Given the description of an element on the screen output the (x, y) to click on. 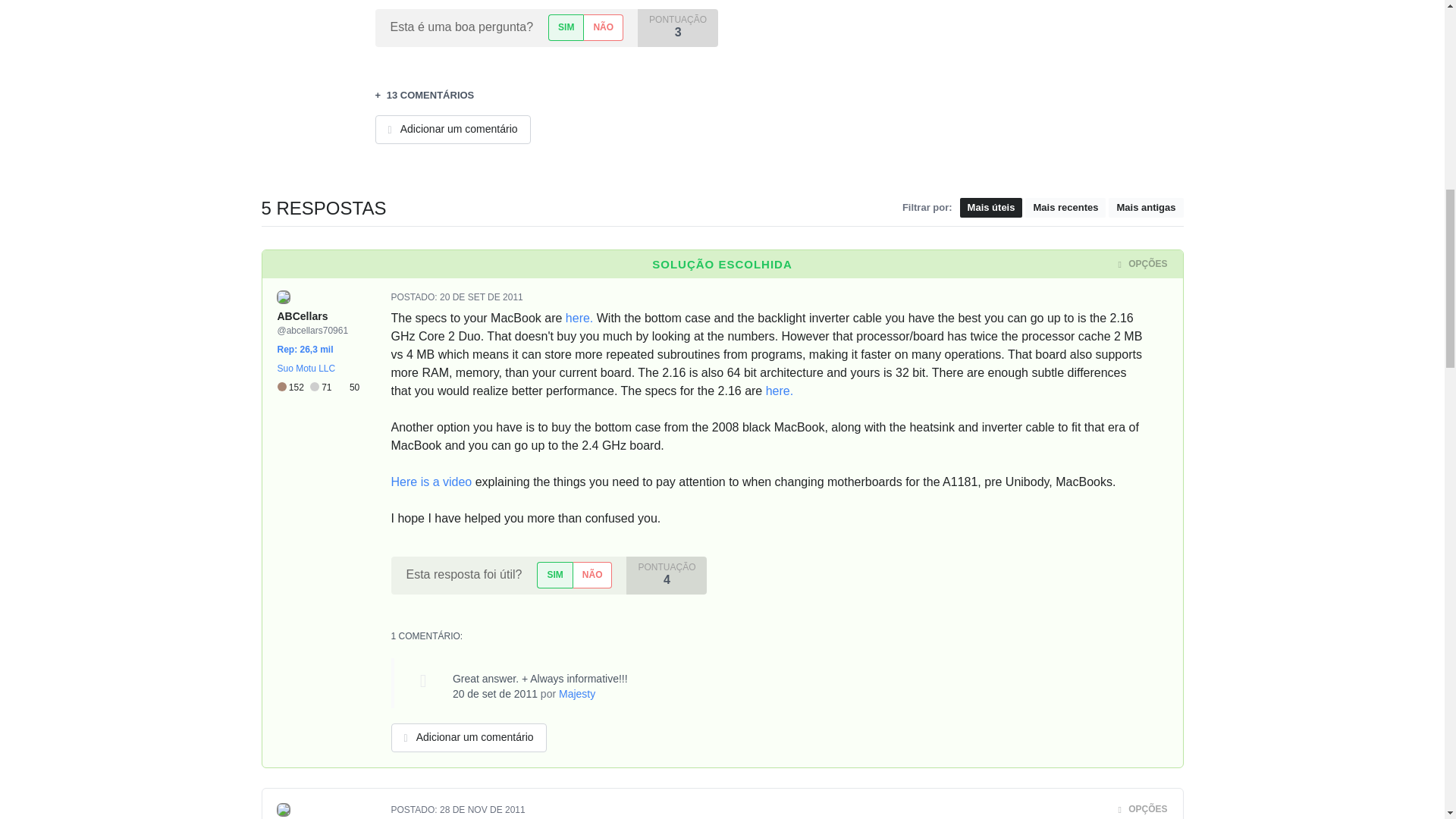
50 emblemas de Ouro (348, 387)
Tue, 20 Sep 2011 10:27:30 -0700 (494, 693)
71 emblemas de Prata (323, 387)
152 emblemas de Bronze (294, 387)
Tue, 20 Sep 2011 05:59:15 -0700 (480, 296)
Mais recentes (1065, 208)
Mon, 28 Nov 2011 22:30:58 -0700 (482, 809)
Mais antigas (1145, 208)
SIM (565, 27)
